Given the description of an element on the screen output the (x, y) to click on. 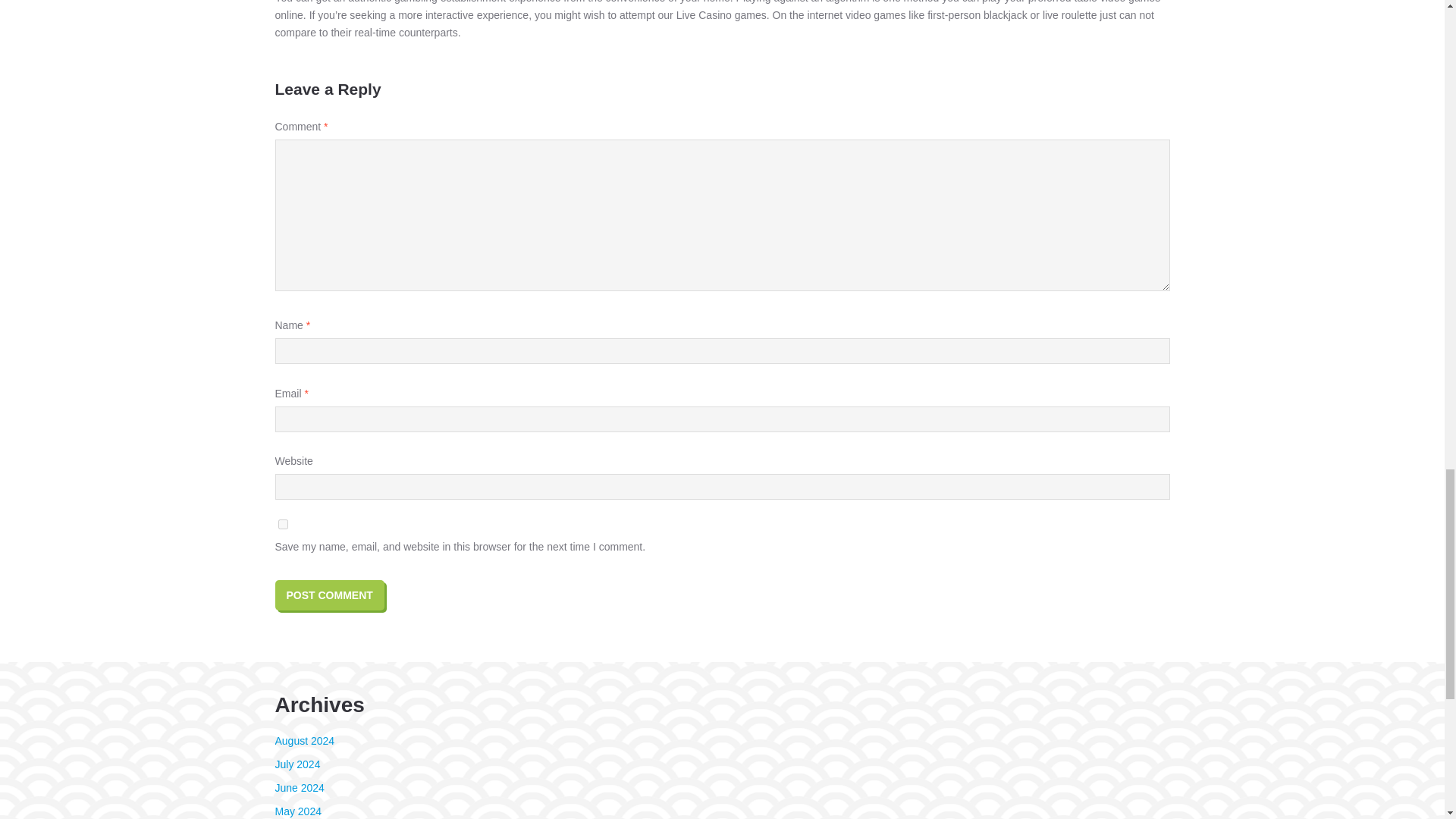
May 2024 (297, 811)
July 2024 (297, 764)
August 2024 (304, 740)
June 2024 (299, 787)
Post Comment (329, 594)
yes (282, 524)
Post Comment (329, 594)
